Given the description of an element on the screen output the (x, y) to click on. 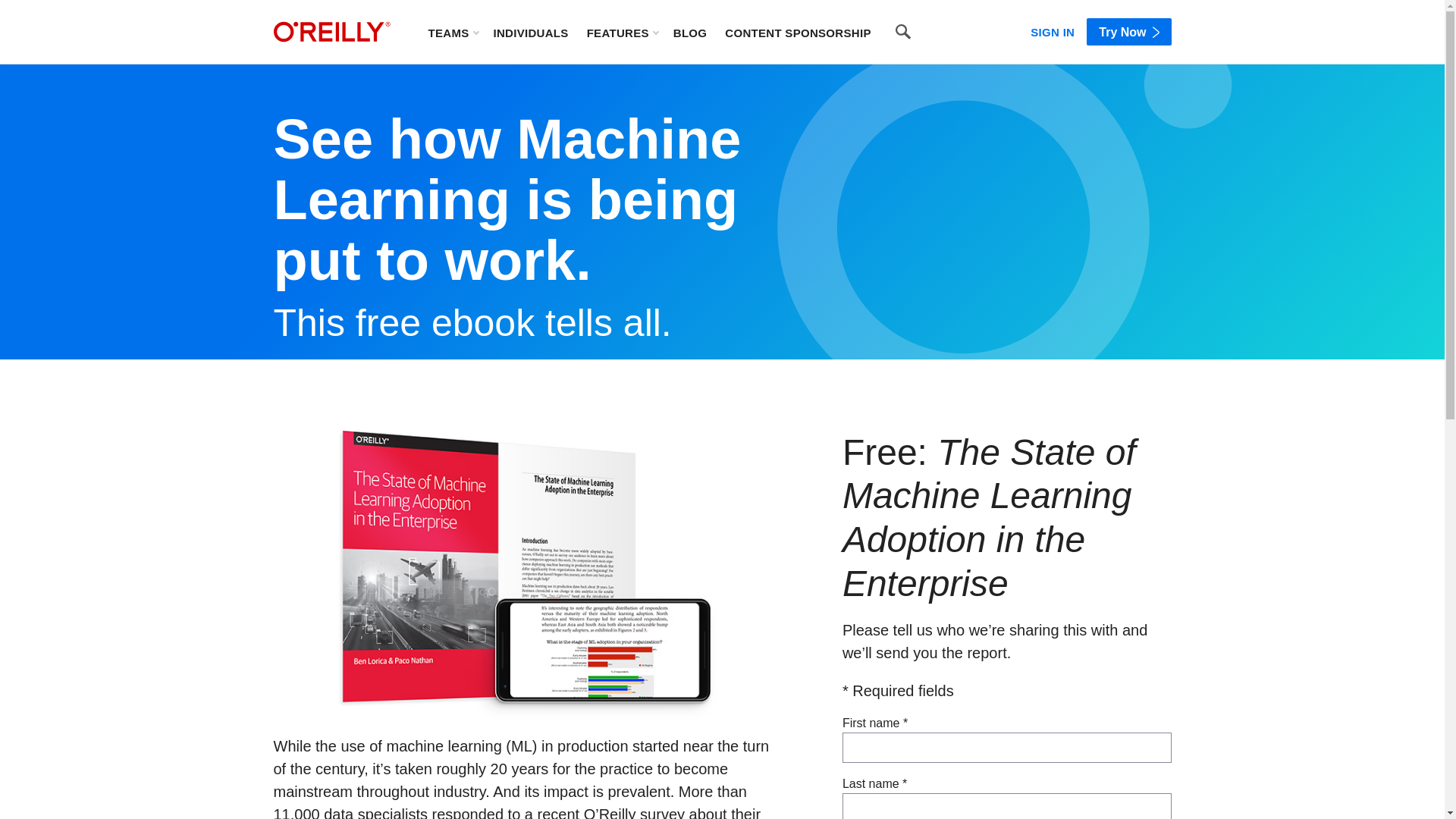
FEATURES (622, 31)
INDIVIDUALS (530, 31)
CONTENT SPONSORSHIP (797, 31)
SIGN IN (1052, 29)
BLOG (689, 31)
TEAMS (452, 31)
home page (331, 31)
Try Now (1128, 31)
Search (903, 31)
